Given the description of an element on the screen output the (x, y) to click on. 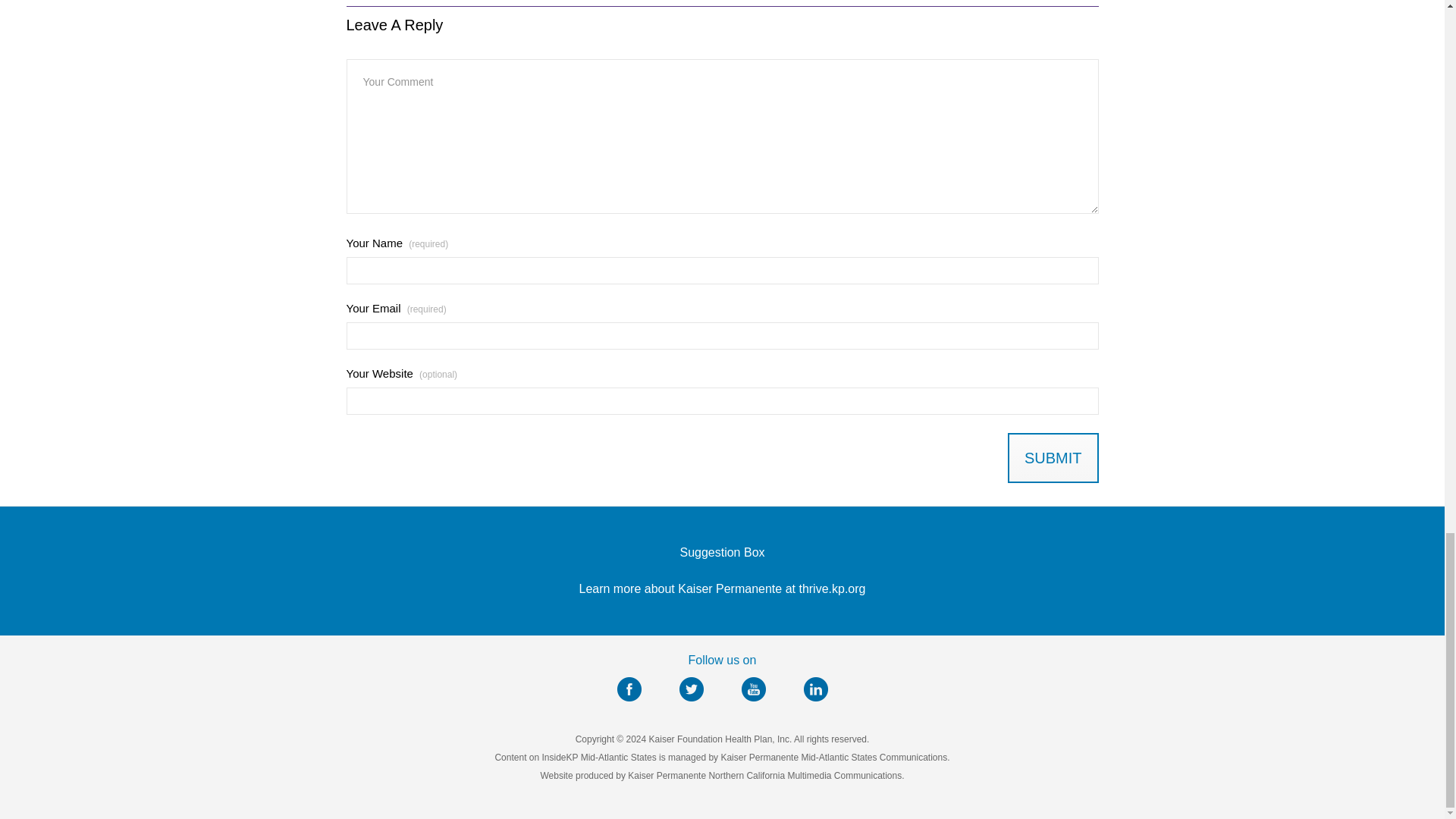
Twitter (691, 689)
Submit (1053, 458)
Learn more about Kaiser Permanente at thrive.kp.org (722, 588)
Youtube (753, 689)
Suggestion Box (721, 552)
Submit (1053, 458)
Facebook (629, 689)
Linkdin (815, 689)
